Given the description of an element on the screen output the (x, y) to click on. 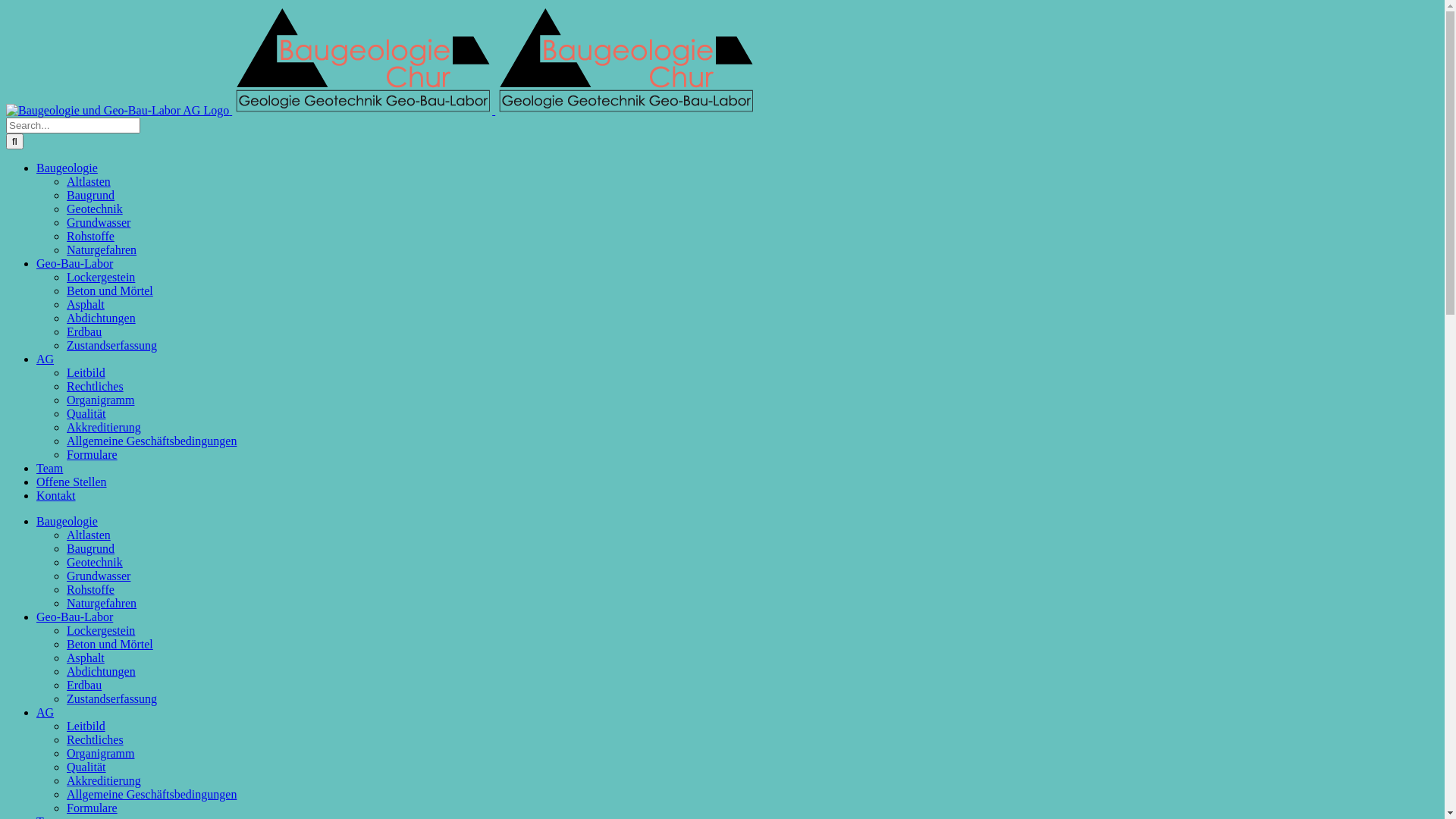
Baugrund Element type: text (90, 194)
Baugeologie Element type: text (66, 167)
Zustandserfassung Element type: text (111, 698)
Asphalt Element type: text (85, 304)
Geo-Bau-Labor Element type: text (74, 616)
AG Element type: text (44, 358)
Zustandserfassung Element type: text (111, 344)
Leitbild Element type: text (85, 725)
Geo-Bau-Labor Element type: text (74, 263)
Rechtliches Element type: text (94, 739)
Lockergestein Element type: text (100, 630)
Naturgefahren Element type: text (101, 602)
Organigramm Element type: text (100, 752)
Team Element type: text (49, 467)
Naturgefahren Element type: text (101, 249)
Rohstoffe Element type: text (90, 589)
Skip to content Element type: text (5, 5)
AG Element type: text (44, 712)
Lockergestein Element type: text (100, 276)
Erdbau Element type: text (83, 684)
Altlasten Element type: text (88, 534)
Geotechnik Element type: text (94, 561)
Abdichtungen Element type: text (100, 317)
Akkreditierung Element type: text (103, 426)
Geotechnik Element type: text (94, 208)
Asphalt Element type: text (85, 657)
Kontakt Element type: text (55, 495)
Leitbild Element type: text (85, 372)
Formulare Element type: text (91, 807)
Grundwasser Element type: text (98, 575)
Altlasten Element type: text (88, 181)
Rohstoffe Element type: text (90, 235)
Akkreditierung Element type: text (103, 780)
Erdbau Element type: text (83, 331)
Baugrund Element type: text (90, 548)
Baugeologie Element type: text (66, 520)
Abdichtungen Element type: text (100, 671)
Offene Stellen Element type: text (71, 481)
Rechtliches Element type: text (94, 385)
Organigramm Element type: text (100, 399)
Grundwasser Element type: text (98, 222)
Formulare Element type: text (91, 454)
